Given the description of an element on the screen output the (x, y) to click on. 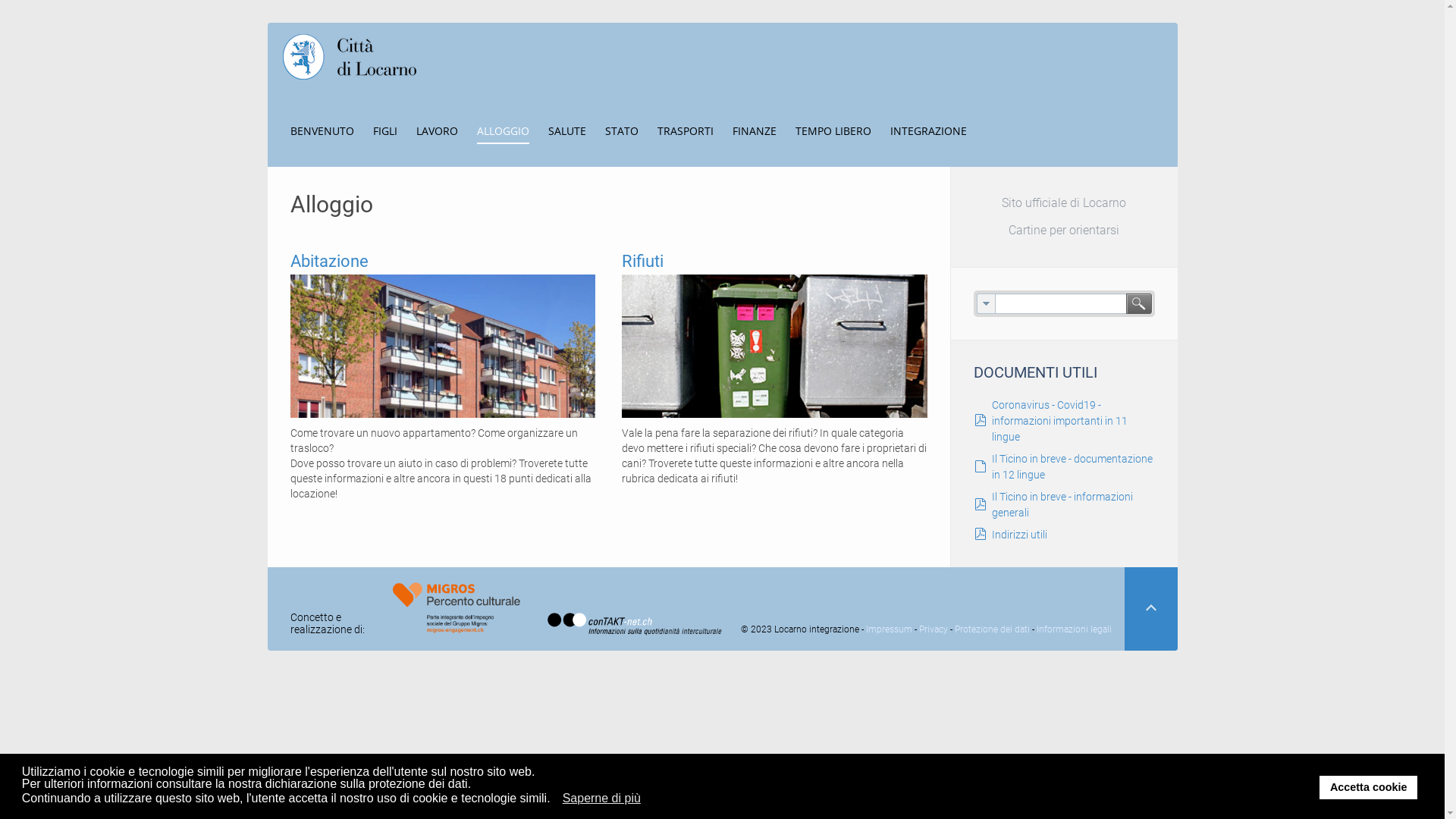
pdf Element type: text (979, 420)
LAVORO Element type: text (436, 130)
Accetta cookie Element type: text (1368, 787)
TEMPO LIBERO Element type: text (832, 130)
STATO Element type: text (621, 130)
INTEGRAZIONE Element type: text (928, 130)
Rifiuti Element type: hover (774, 345)
Protezione dei dati Element type: text (991, 629)
Cartine per orientarsi Element type: text (1063, 230)
FINANZE Element type: text (754, 130)
ALLOGGIO Element type: text (502, 130)
Rifiuti Element type: text (642, 260)
Informazioni legali Element type: text (1073, 629)
Sito ufficiale di Locarno Element type: text (1063, 202)
Abitazione Element type: hover (442, 344)
TRASPORTI Element type: text (684, 130)
Rifiuti Element type: hover (774, 344)
Impressum Element type: text (889, 629)
Il Ticino in breve - documentazione in 12 lingue Element type: text (1071, 466)
Privacy Element type: text (933, 629)
Il Ticino in breve - informazioni generali Element type: text (1061, 504)
Abitazione Element type: hover (442, 345)
FIGLI Element type: text (385, 130)
pdf Element type: text (979, 504)
Abitazione Element type: text (328, 260)
Coronavirus - Covid19 - informazioni importanti in 11 lingue Element type: text (1059, 420)
default Element type: text (979, 467)
pdf Element type: text (979, 534)
BENVENUTO Element type: text (321, 130)
Indirizzi utili Element type: text (1019, 534)
SALUTE Element type: text (566, 130)
